Given the description of an element on the screen output the (x, y) to click on. 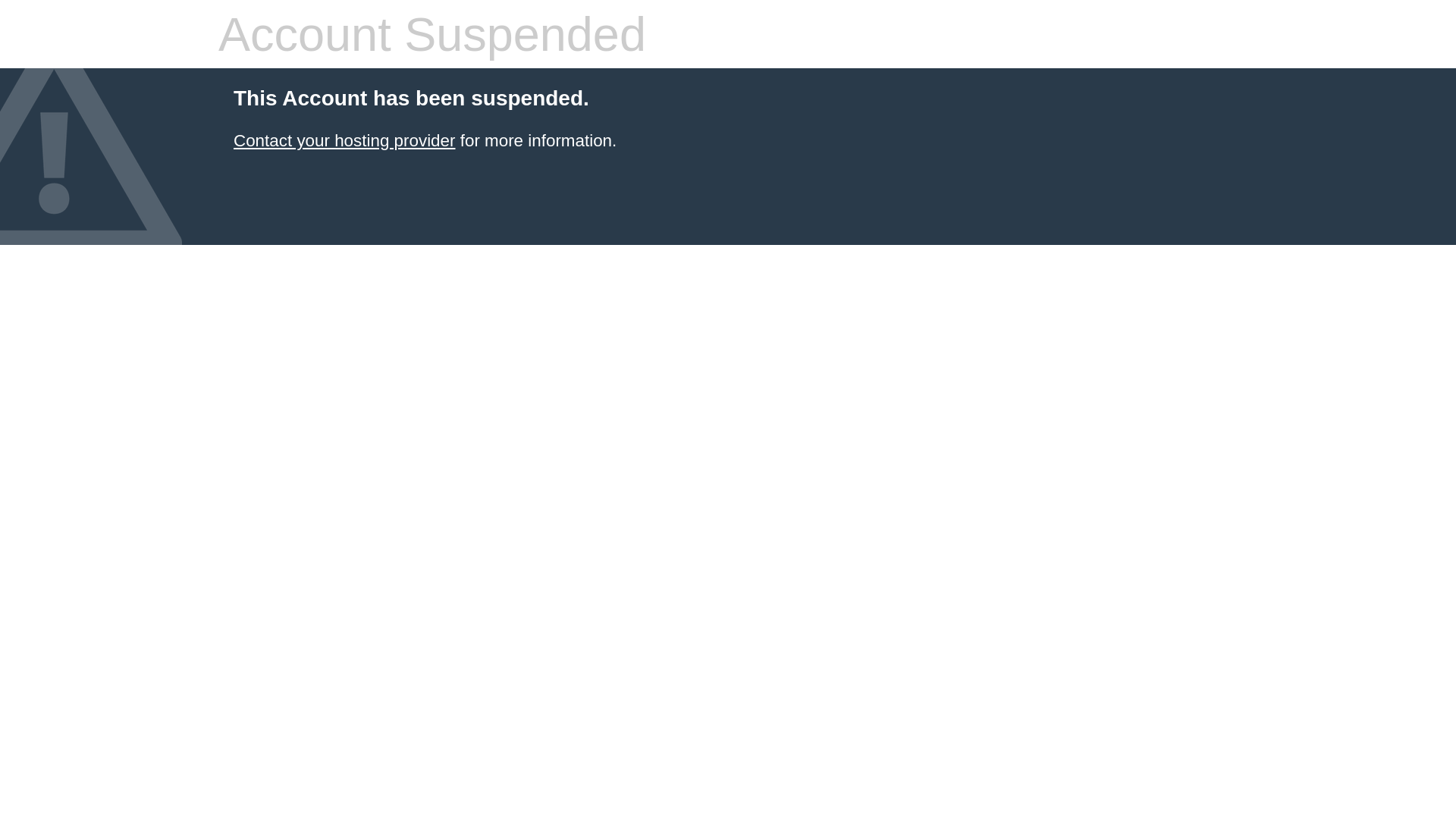
Contact your hosting provider Element type: text (344, 140)
